Given the description of an element on the screen output the (x, y) to click on. 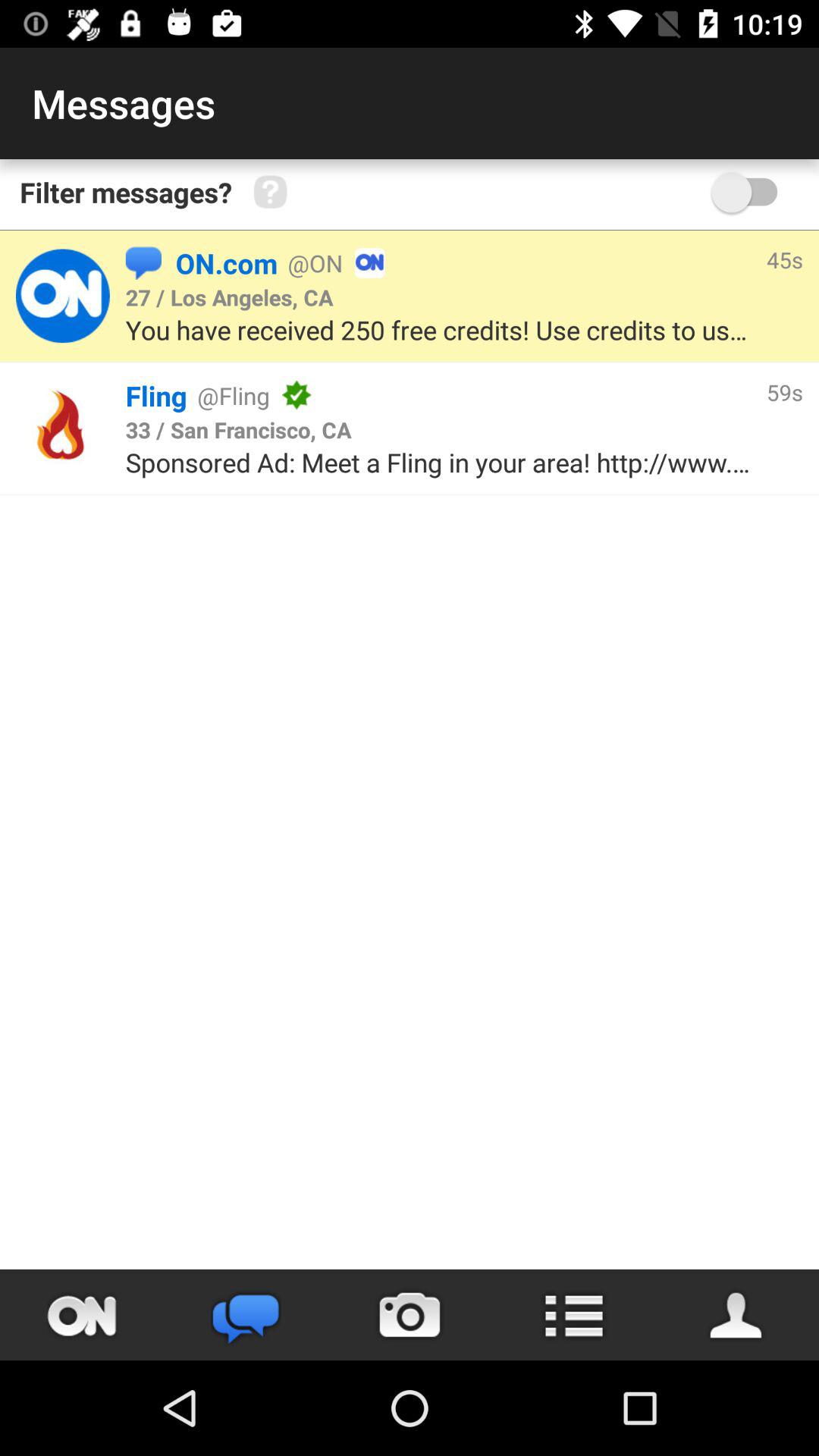
the menu bar (573, 1315)
